Given the description of an element on the screen output the (x, y) to click on. 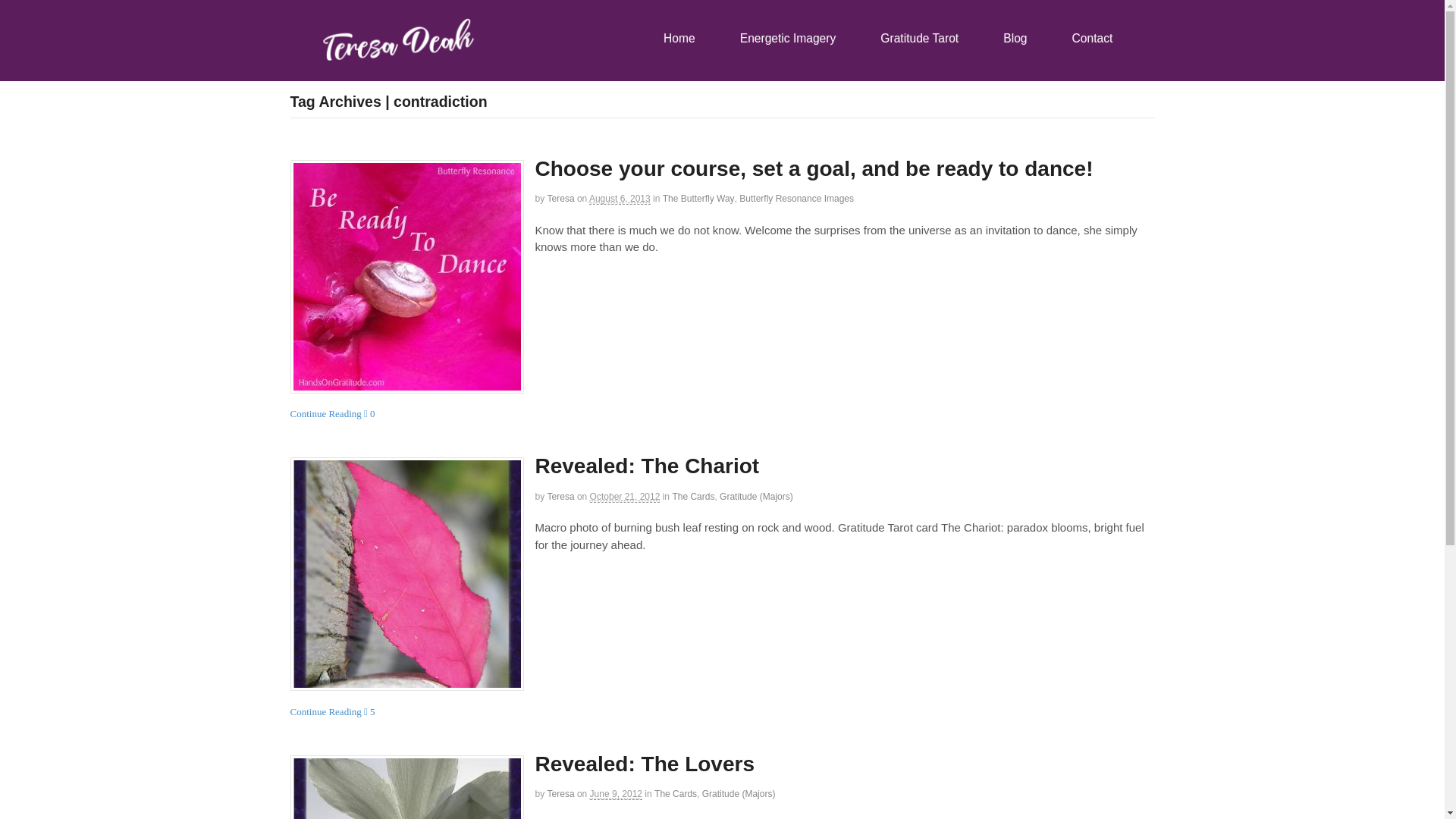
Gratitude Tarot (915, 38)
The Butterfly Way (698, 198)
2013-08-06T14:32:40-0700 (619, 198)
Energetic Imagery (783, 38)
Choose your course, set a goal, and be ready to dance! (814, 167)
Teresa (561, 496)
Posts by Teresa (561, 496)
View all items in The Butterfly Way (698, 198)
Revealed: The Chariot (405, 574)
Posts by Teresa (561, 198)
